Given the description of an element on the screen output the (x, y) to click on. 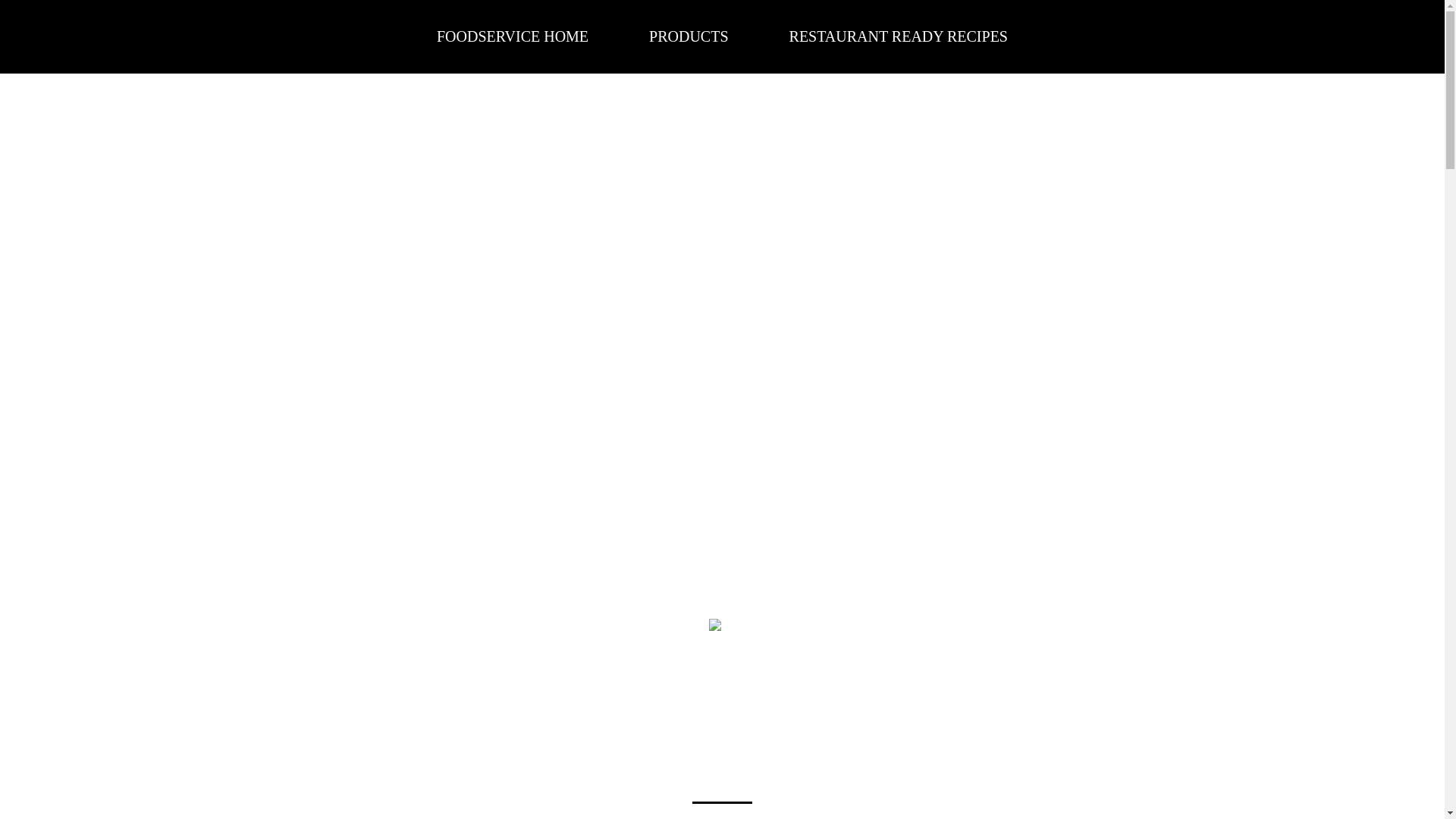
FOODSERVICE HOME (512, 36)
PRODUCTS (688, 36)
RESTAURANT READY RECIPES (898, 36)
